Given the description of an element on the screen output the (x, y) to click on. 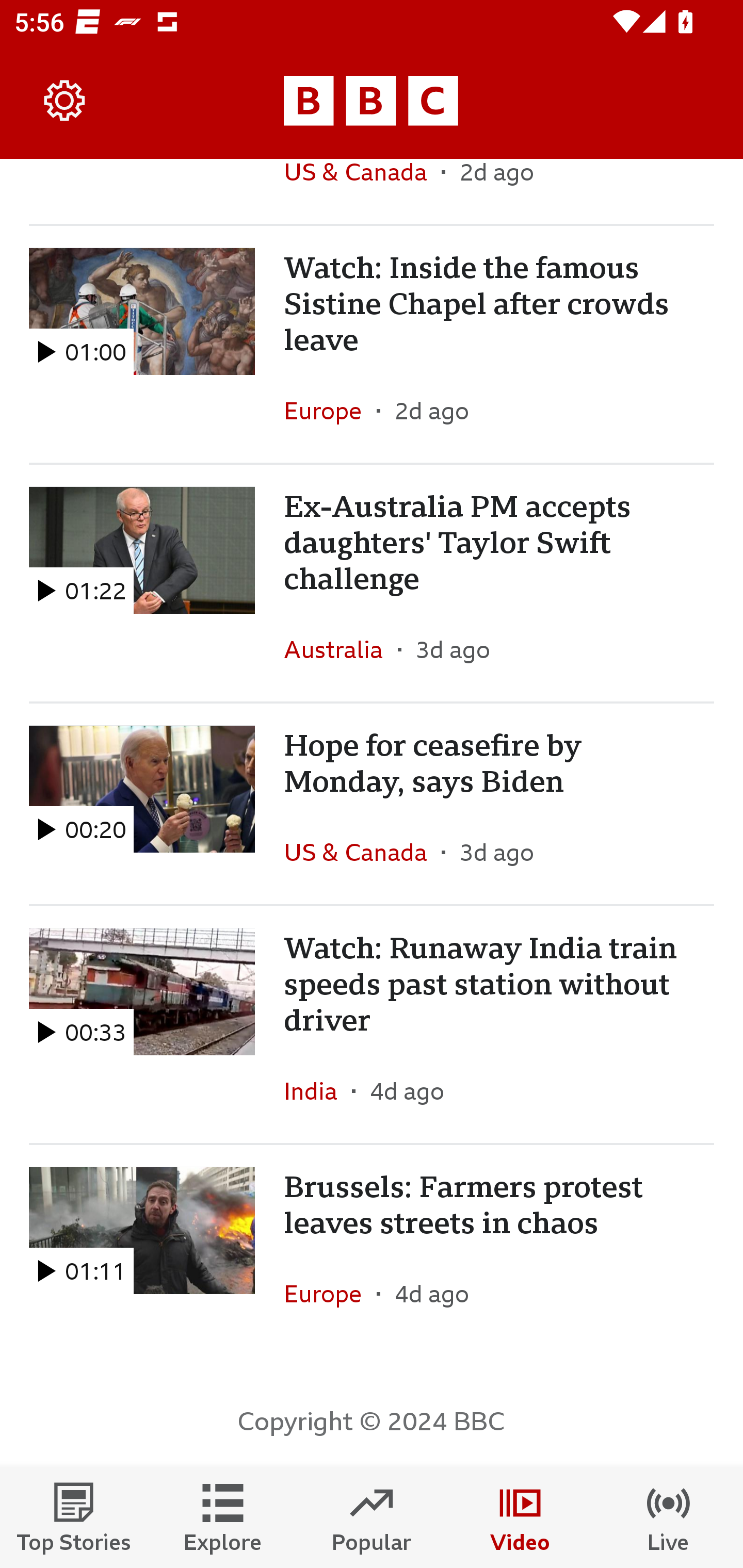
Settings (64, 100)
US & Canada In the section US & Canada (362, 191)
Europe In the section Europe (329, 410)
Australia In the section Australia (340, 648)
US & Canada In the section US & Canada (362, 851)
India In the section India (317, 1090)
Europe In the section Europe (329, 1293)
Top Stories (74, 1517)
Explore (222, 1517)
Popular (371, 1517)
Live (668, 1517)
